Given the description of an element on the screen output the (x, y) to click on. 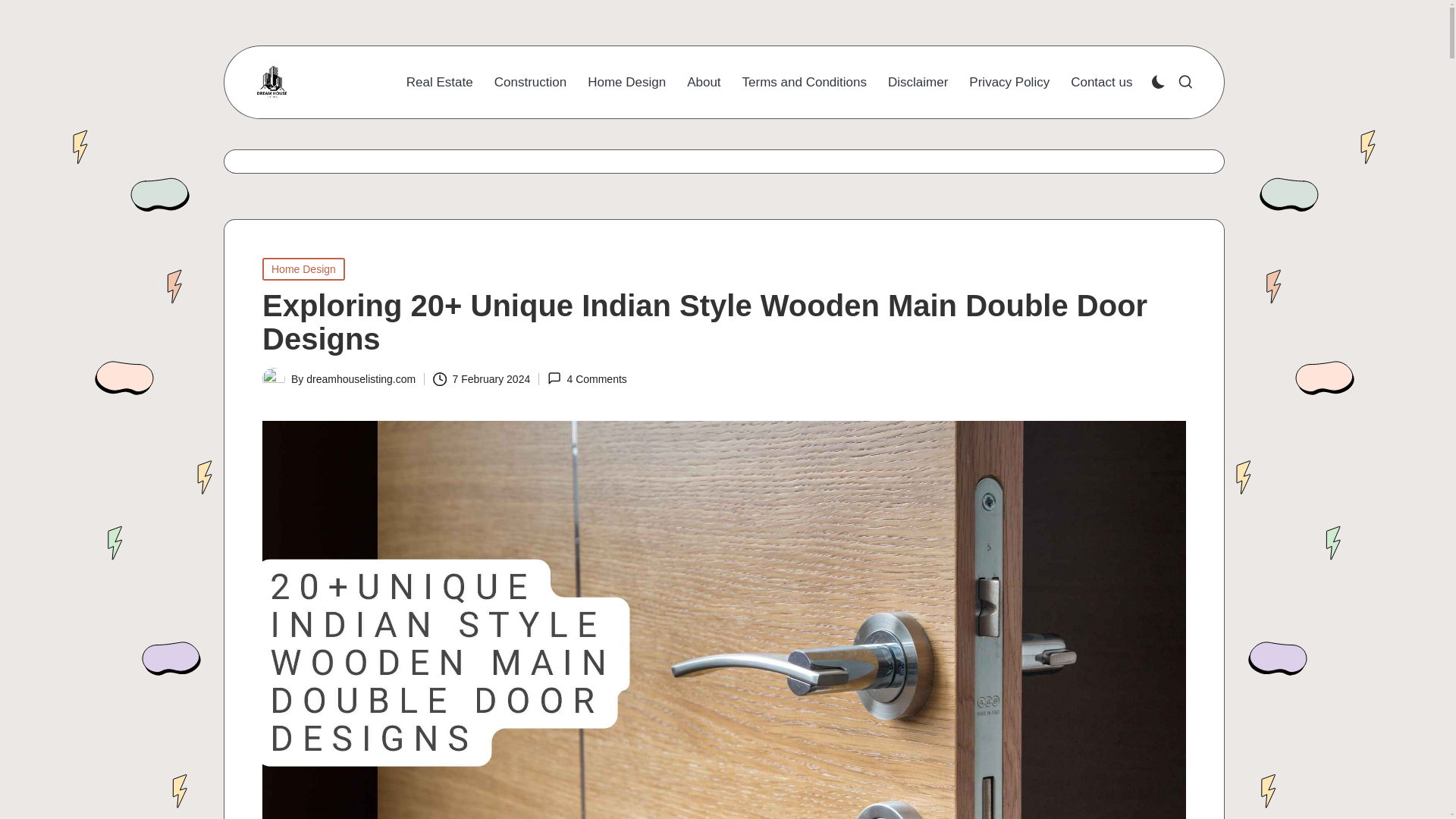
View all posts by dreamhouselisting.com (359, 378)
Home Design (626, 82)
Construction (530, 82)
Privacy Policy (1009, 82)
Real Estate (439, 82)
About (703, 82)
dreamhouselisting.com (359, 378)
4 Comments (587, 378)
Terms and Conditions (804, 82)
Home Design (303, 268)
